Given the description of an element on the screen output the (x, y) to click on. 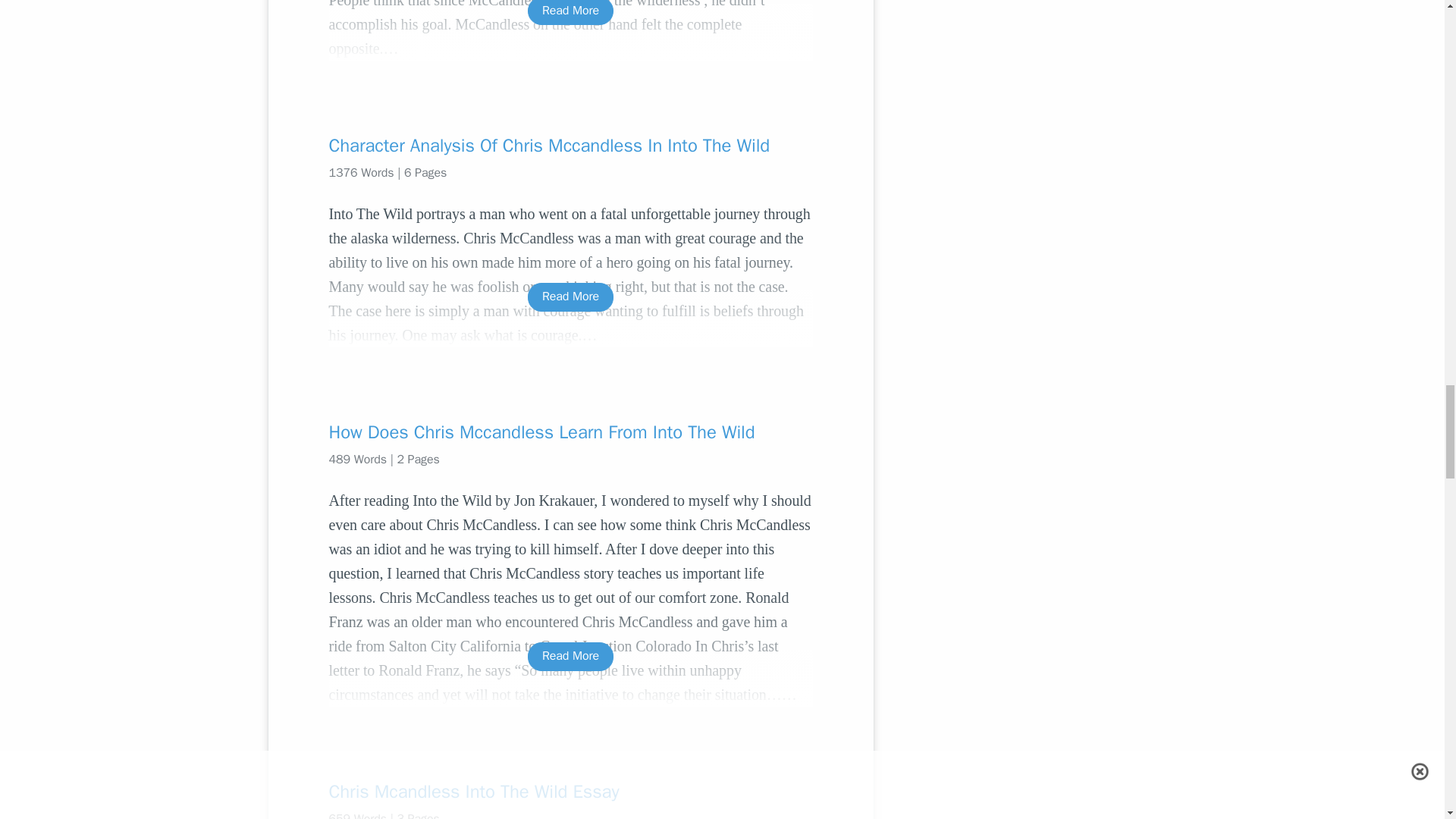
How Does Chris Mccandless Learn From Into The Wild (570, 432)
Chris Mcandless Into The Wild Essay (570, 791)
Read More (569, 12)
Read More (569, 656)
Read More (569, 296)
Character Analysis Of Chris Mccandless In Into The Wild (570, 145)
